Given the description of an element on the screen output the (x, y) to click on. 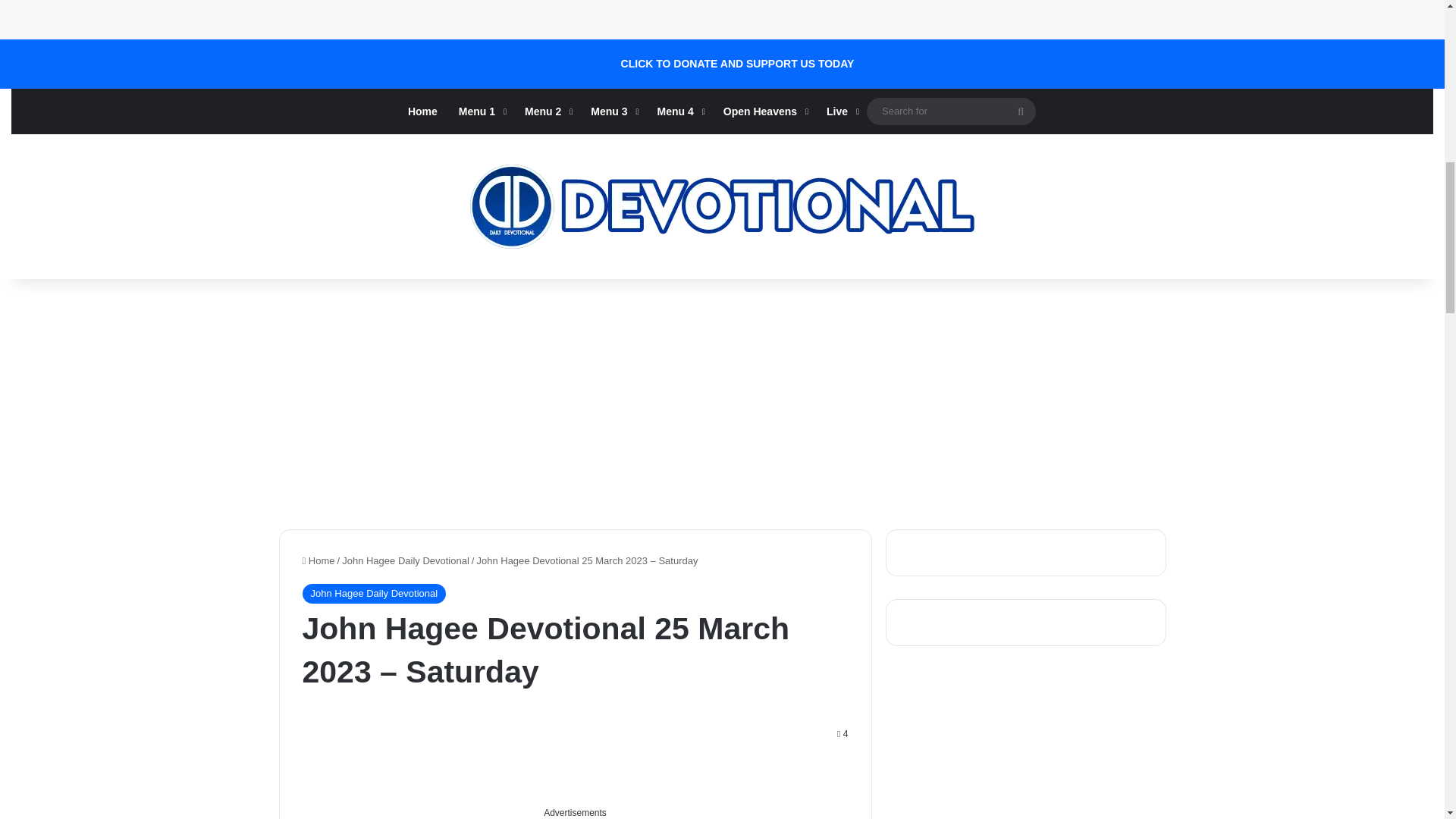
Menu 3 (612, 111)
Menu 4 (679, 111)
Menu 2 (546, 111)
CLICK TO DONATE AND SUPPORT US TODAY (737, 63)
Daily Devotional Today (722, 206)
CLICK TO DONATE AND SUPPORT US TODAY (737, 63)
Open Heavens (764, 111)
Advertisement (455, 17)
Menu 1 (480, 111)
Home (422, 111)
Search for (950, 110)
